Given the description of an element on the screen output the (x, y) to click on. 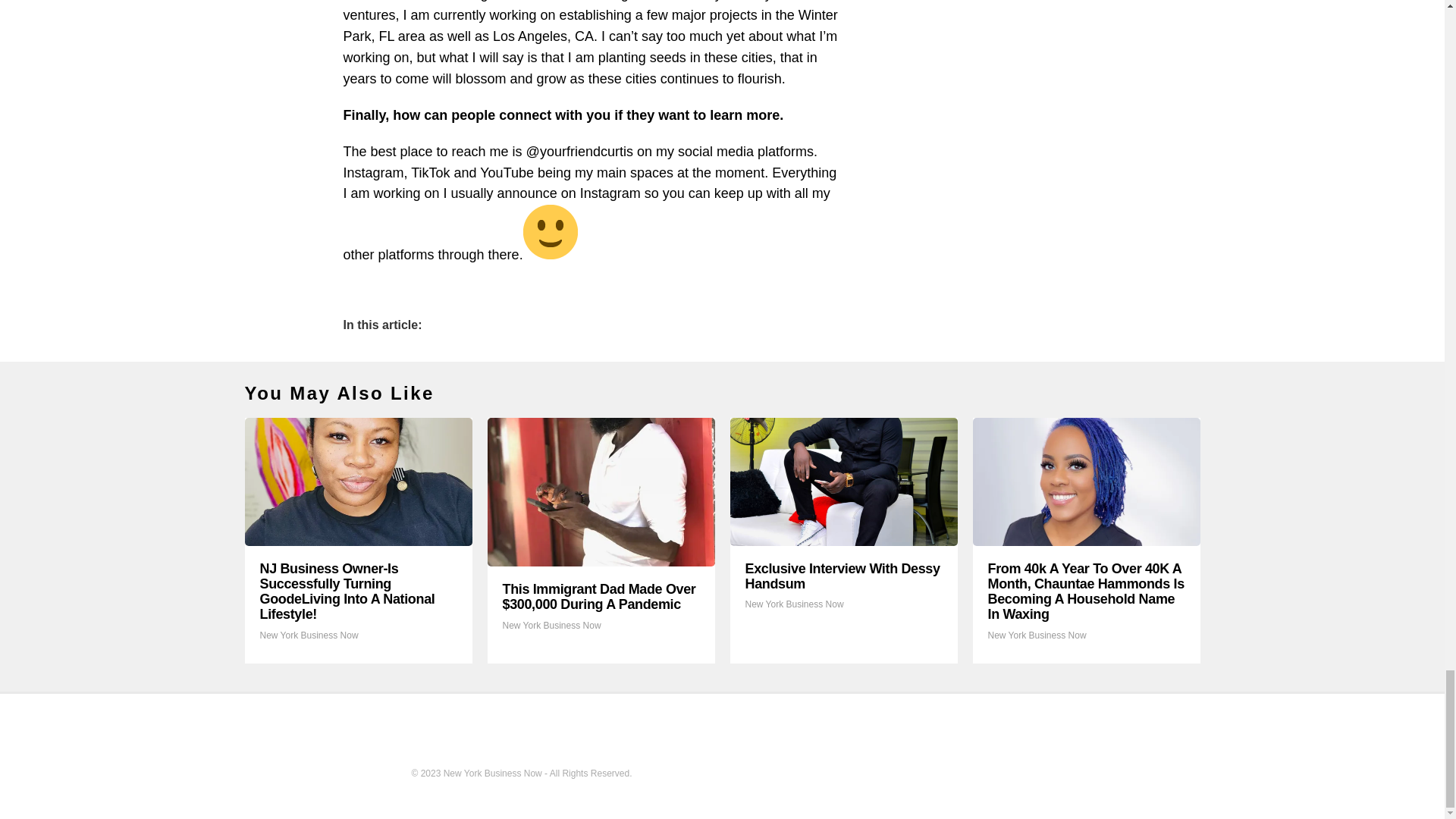
Posts by New York Business Now (1036, 634)
Posts by New York Business Now (308, 634)
Posts by New York Business Now (550, 624)
Posts by New York Business Now (793, 603)
